Given the description of an element on the screen output the (x, y) to click on. 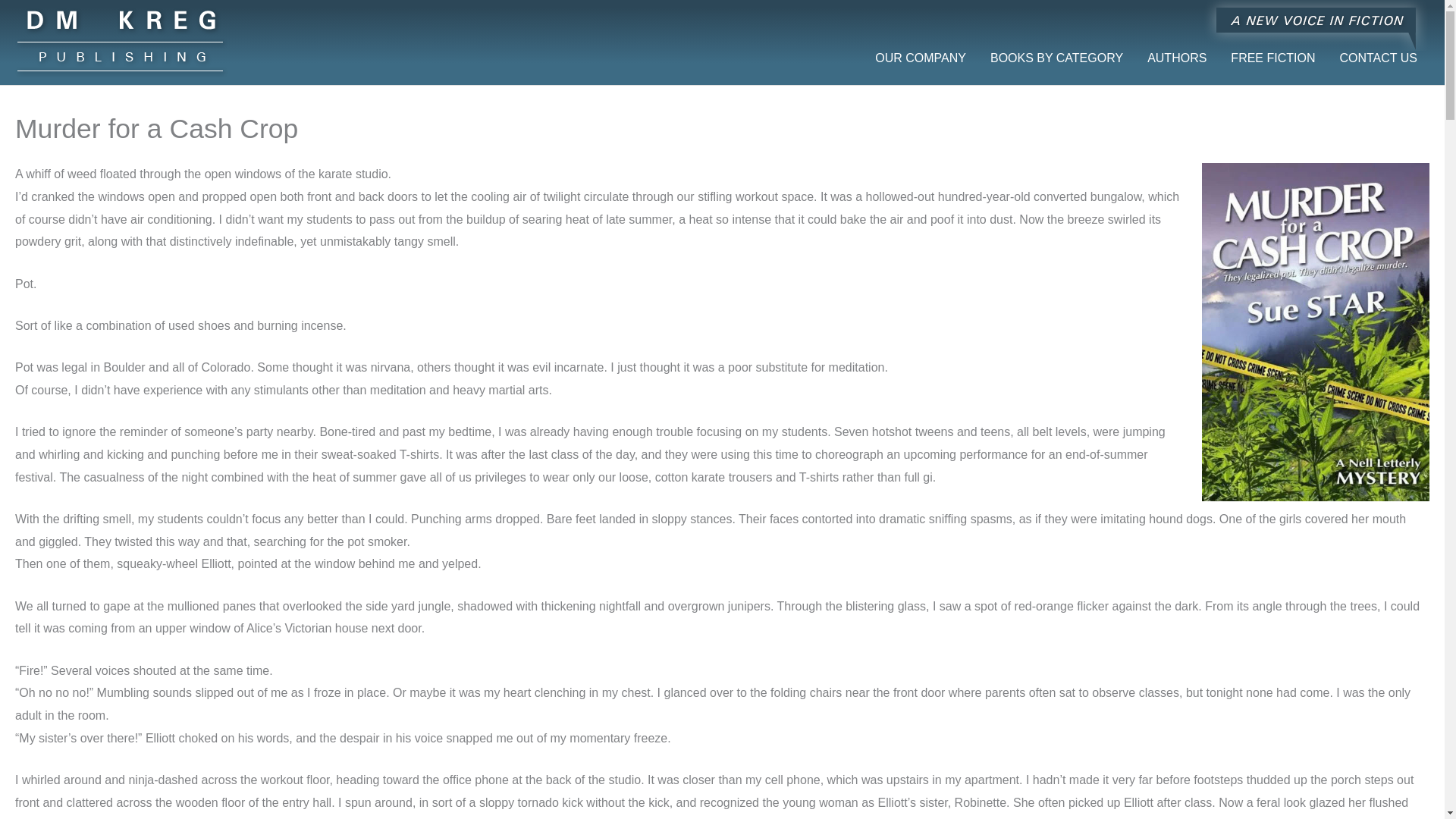
BOOKS BY CATEGORY (1056, 46)
OUR COMPANY (920, 46)
AUTHORS (1176, 46)
